Given the description of an element on the screen output the (x, y) to click on. 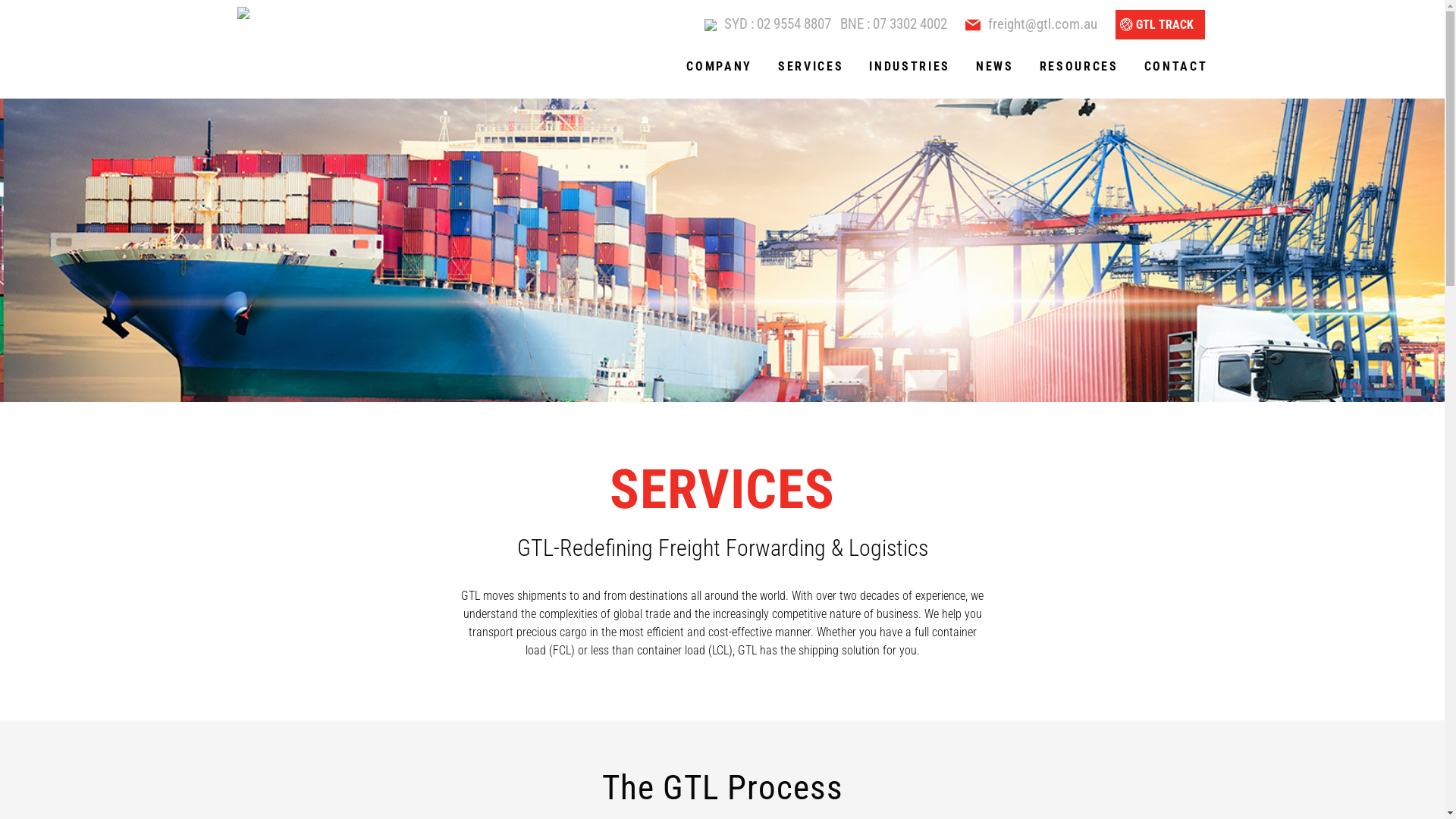
SERVICES Element type: text (810, 66)
CONTACT Element type: text (1169, 66)
GTL TRACK Element type: text (1159, 24)
freight@gtl.com.au Element type: text (1041, 23)
NEWS Element type: text (994, 66)
COMPANY Element type: text (719, 66)
RESOURCES Element type: text (1078, 66)
INDUSTRIES Element type: text (909, 66)
